Given the description of an element on the screen output the (x, y) to click on. 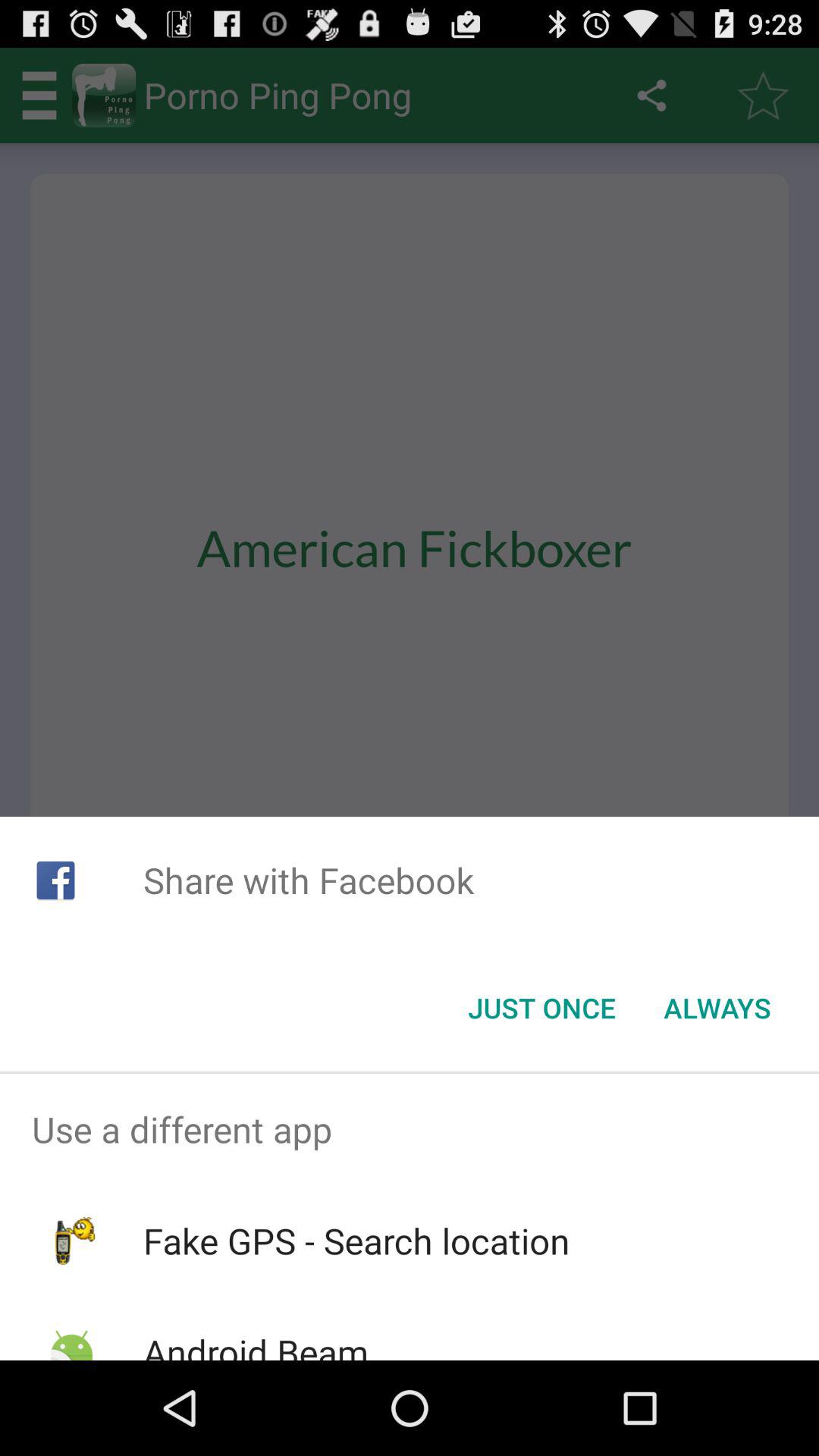
open the use a different (409, 1129)
